Given the description of an element on the screen output the (x, y) to click on. 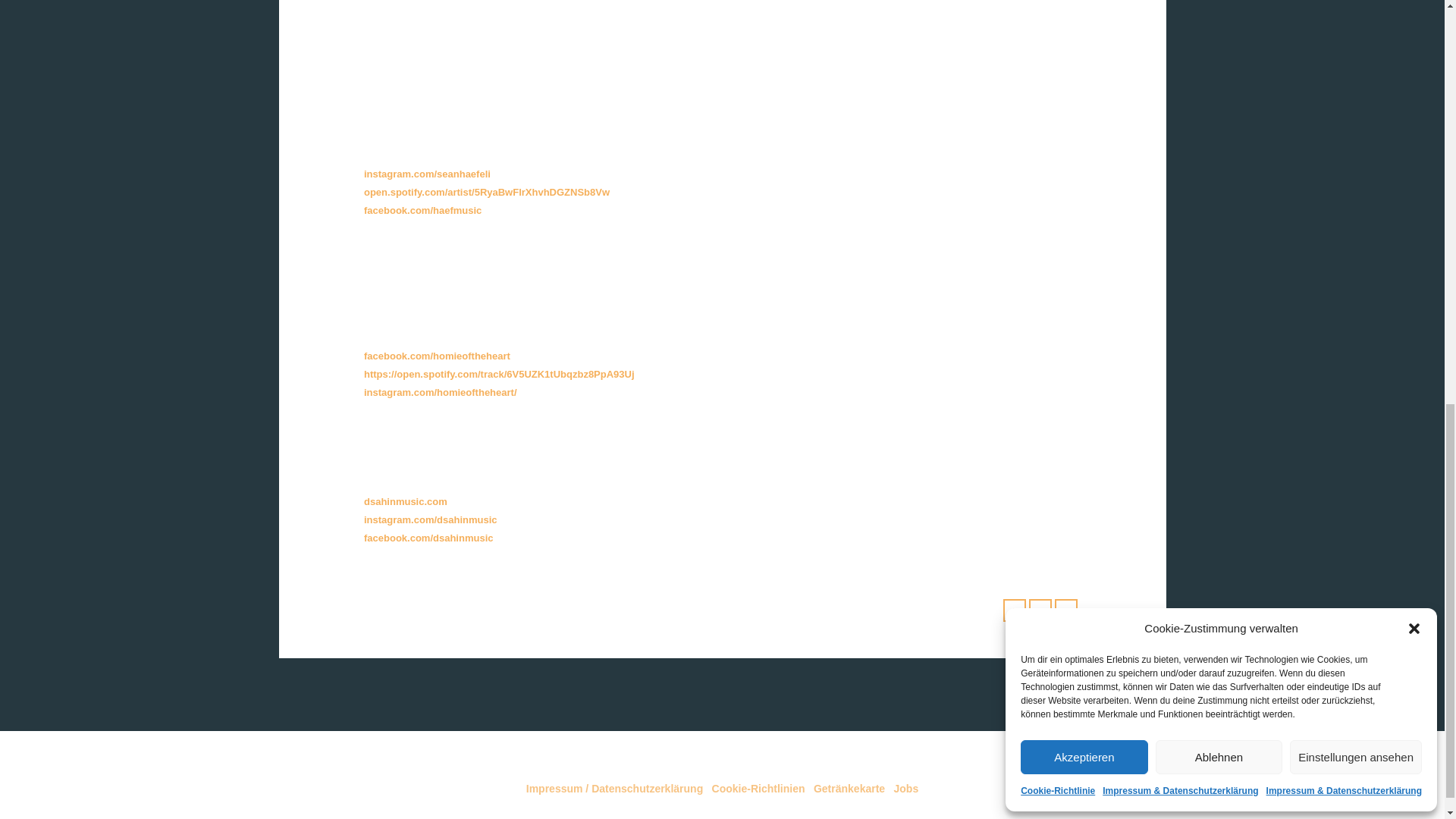
dsahinmusic.com (405, 501)
